Given the description of an element on the screen output the (x, y) to click on. 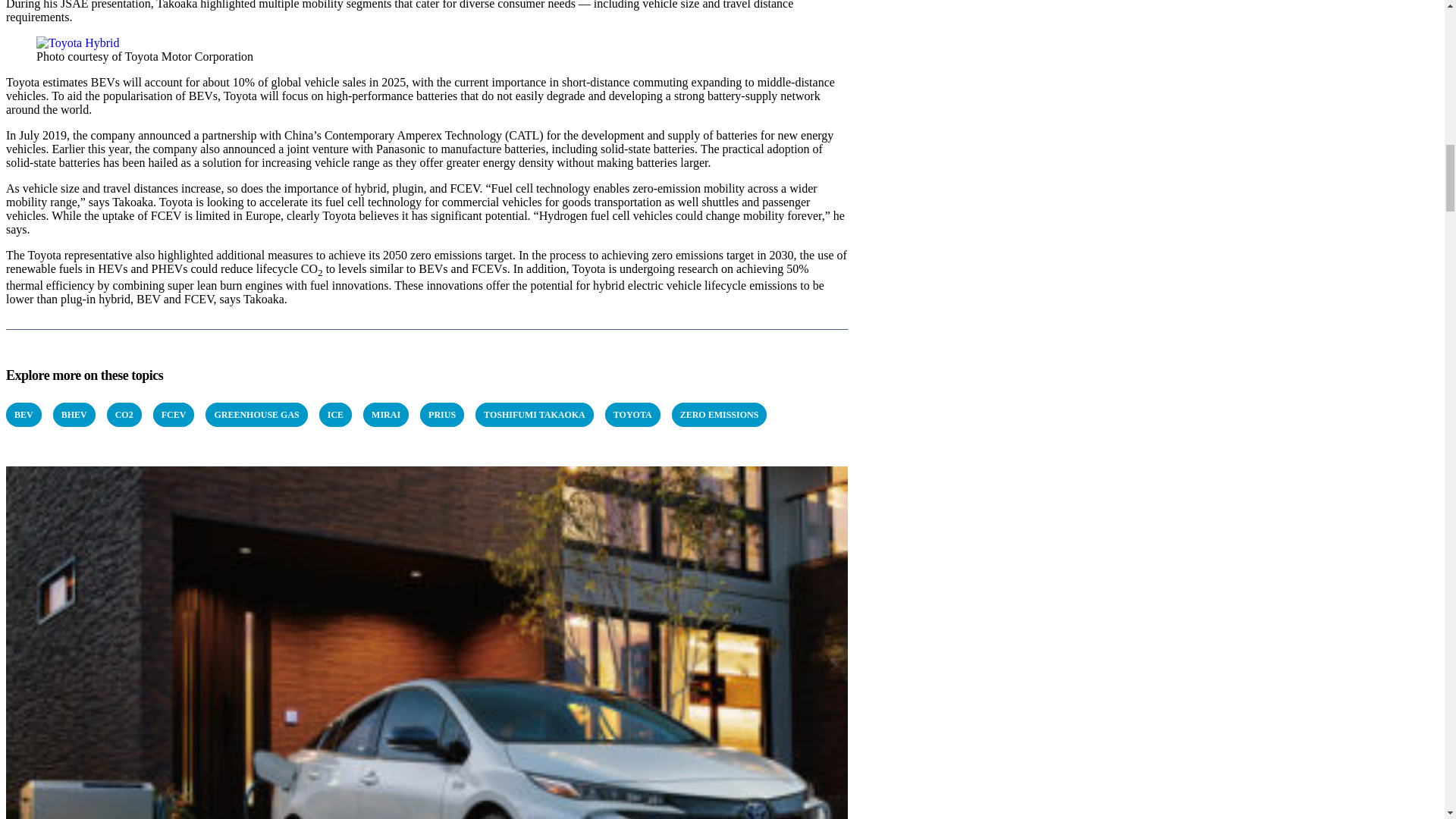
GREENHOUSE GAS (256, 414)
MIRAI (385, 414)
PRIUS (442, 414)
BHEV (74, 414)
TOSHIFUMI TAKAOKA (535, 414)
ICE (335, 414)
CO2 (123, 414)
FCEV (173, 414)
BEV (23, 414)
ZERO EMISSIONS (719, 414)
